Given the description of an element on the screen output the (x, y) to click on. 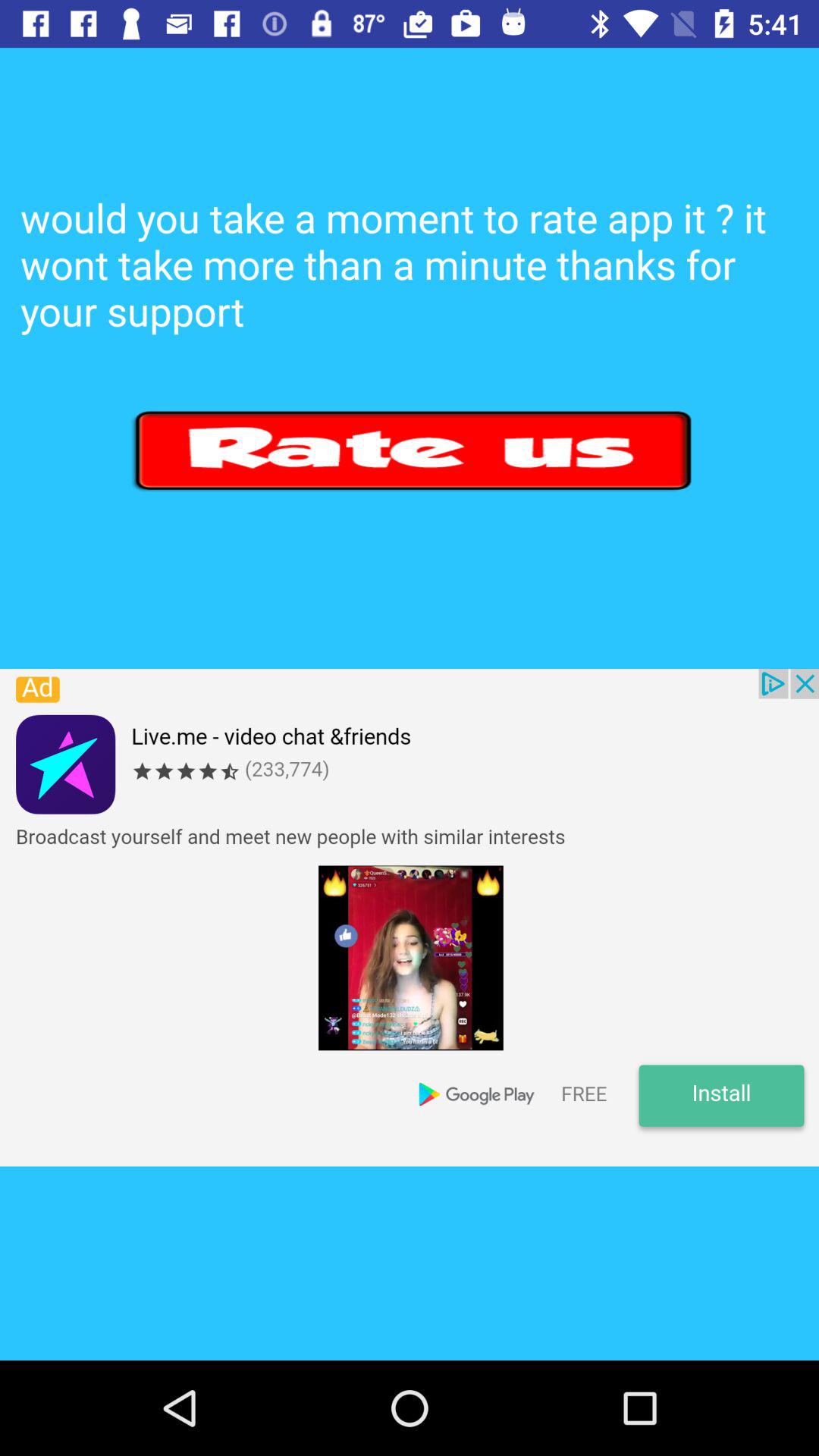
click to rate (414, 450)
